Given the description of an element on the screen output the (x, y) to click on. 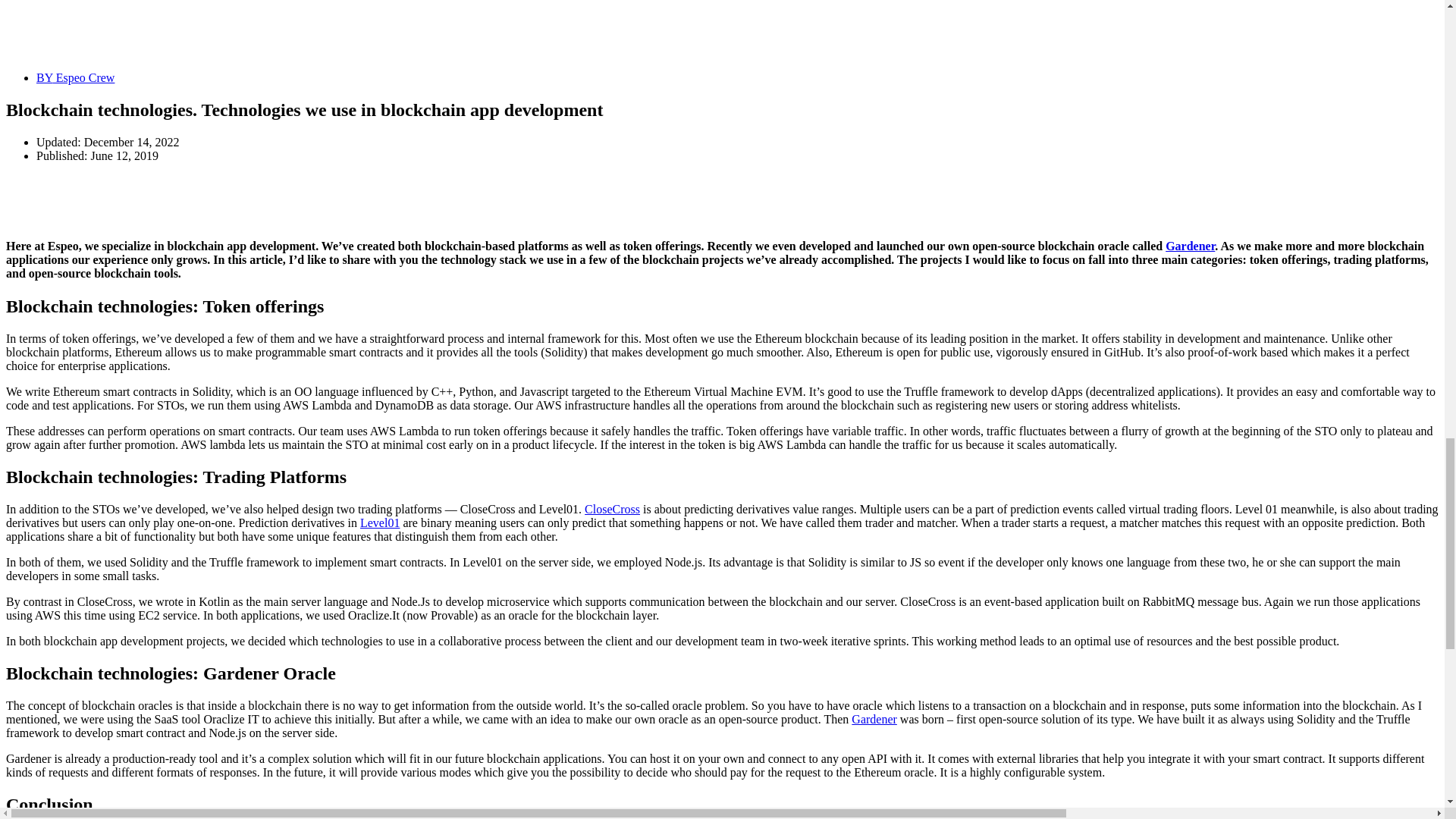
Gardener (1190, 245)
Level01 (378, 522)
Gardener (873, 718)
CloseCross (612, 508)
BY Espeo Crew (75, 77)
